Given the description of an element on the screen output the (x, y) to click on. 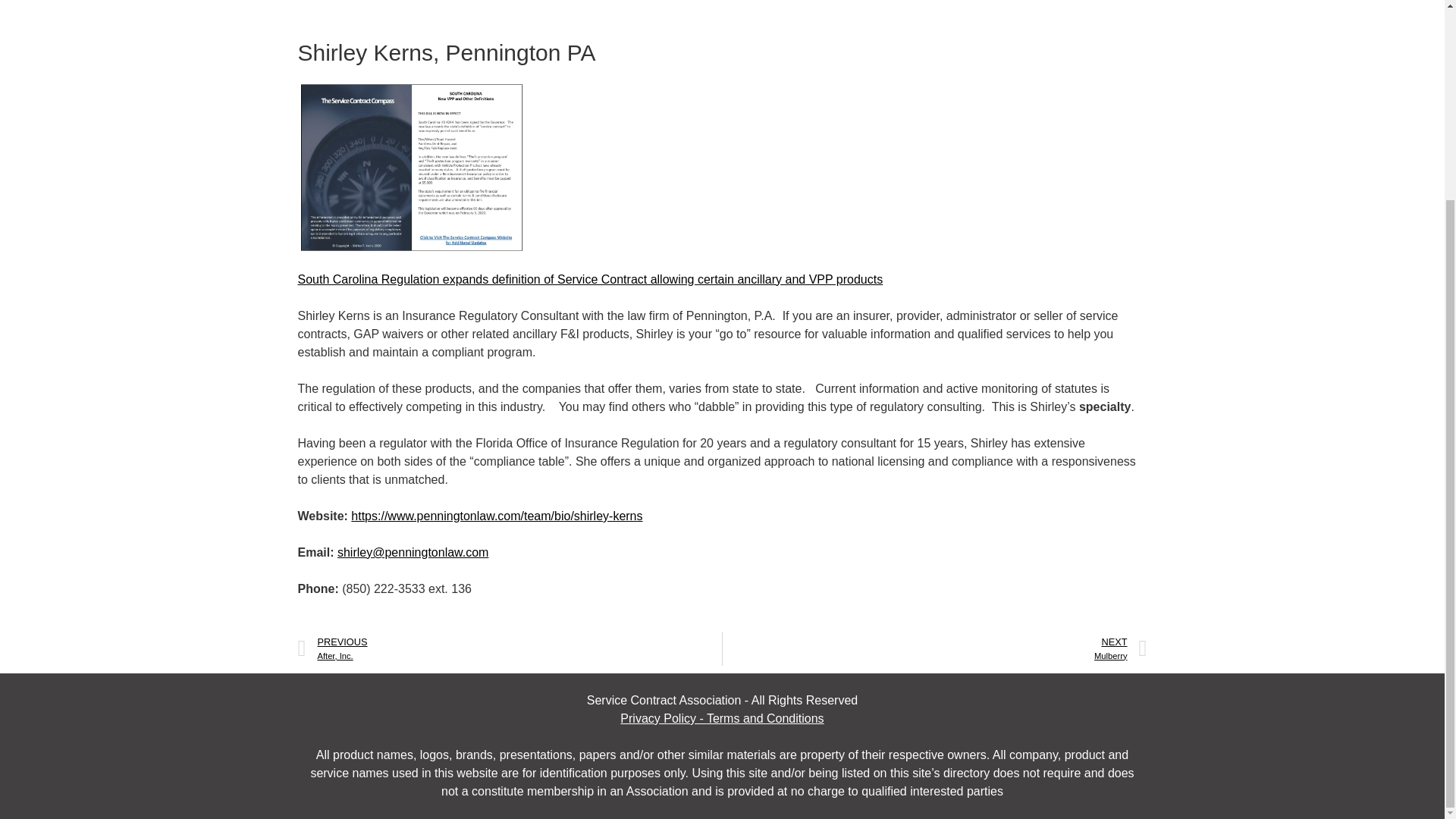
Privacy Policy - (509, 648)
Terms and Conditions (663, 717)
